Given the description of an element on the screen output the (x, y) to click on. 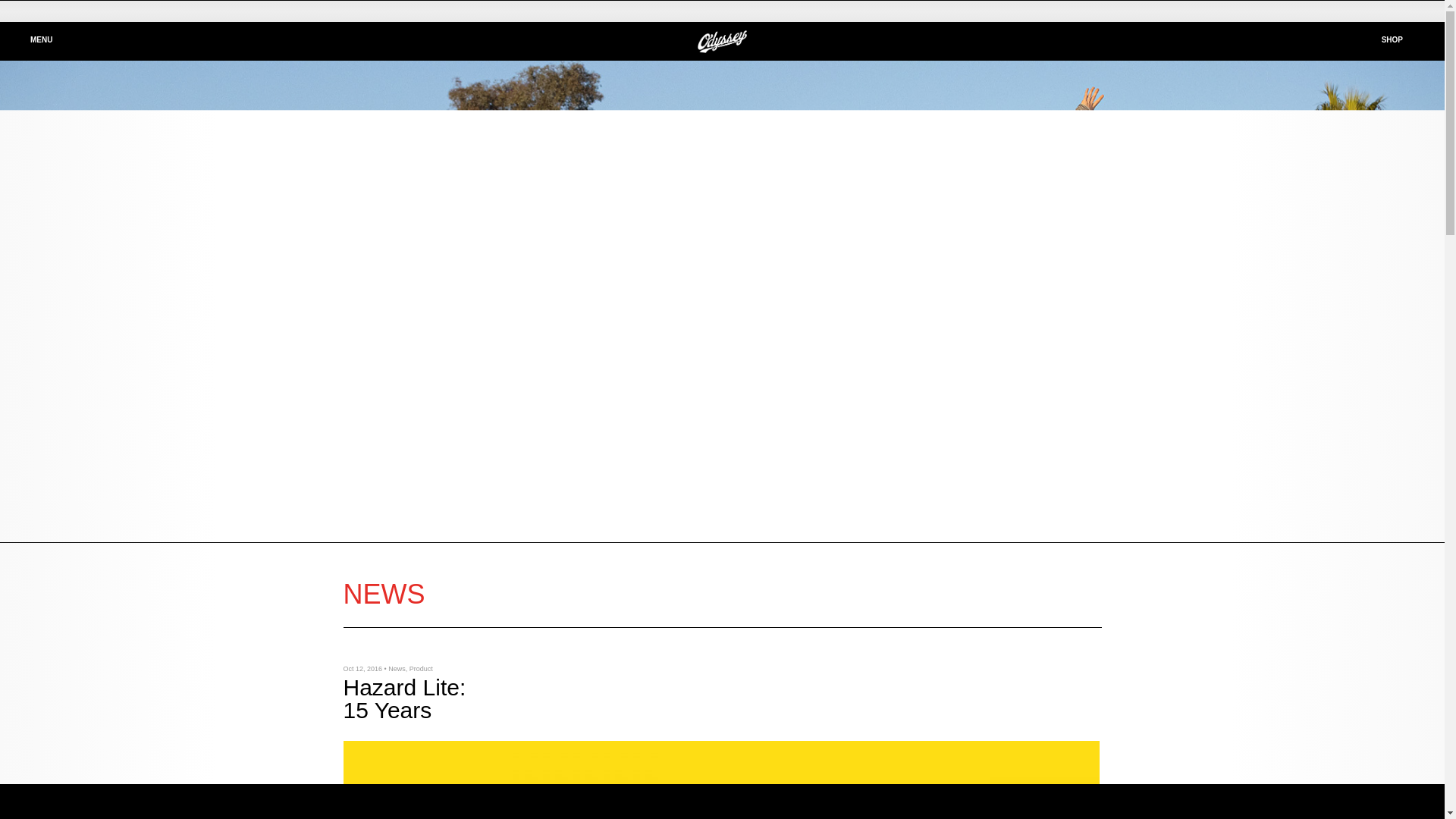
 MENU (28, 40)
Cart (1433, 10)
